Given the description of an element on the screen output the (x, y) to click on. 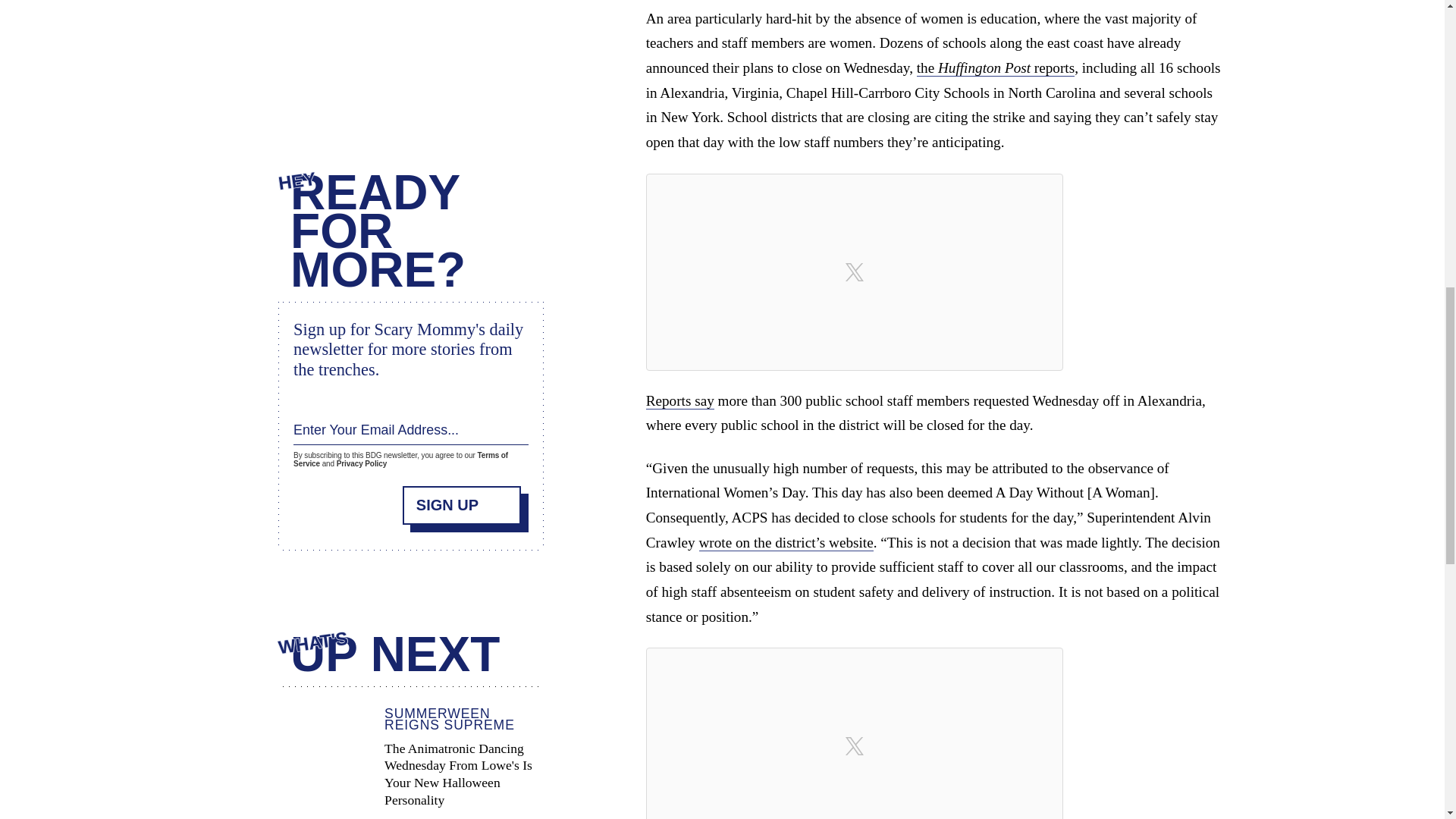
Reports say (680, 401)
the Huffington Post reports (995, 67)
SIGN UP (462, 505)
Privacy Policy (361, 463)
Terms of Service (401, 459)
